Given the description of an element on the screen output the (x, y) to click on. 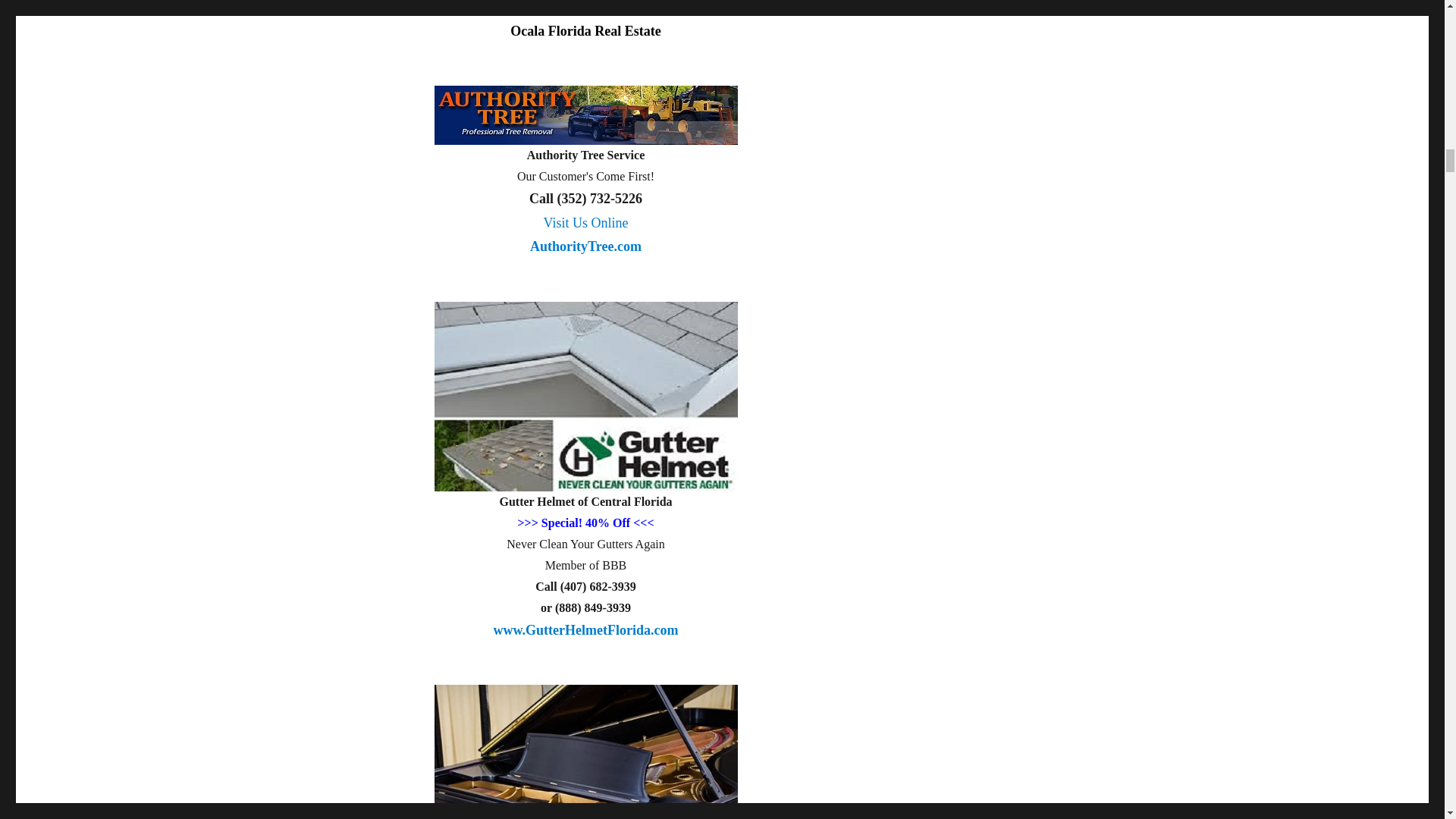
www.GutterHelmetFlorida.com (585, 243)
